Given the description of an element on the screen output the (x, y) to click on. 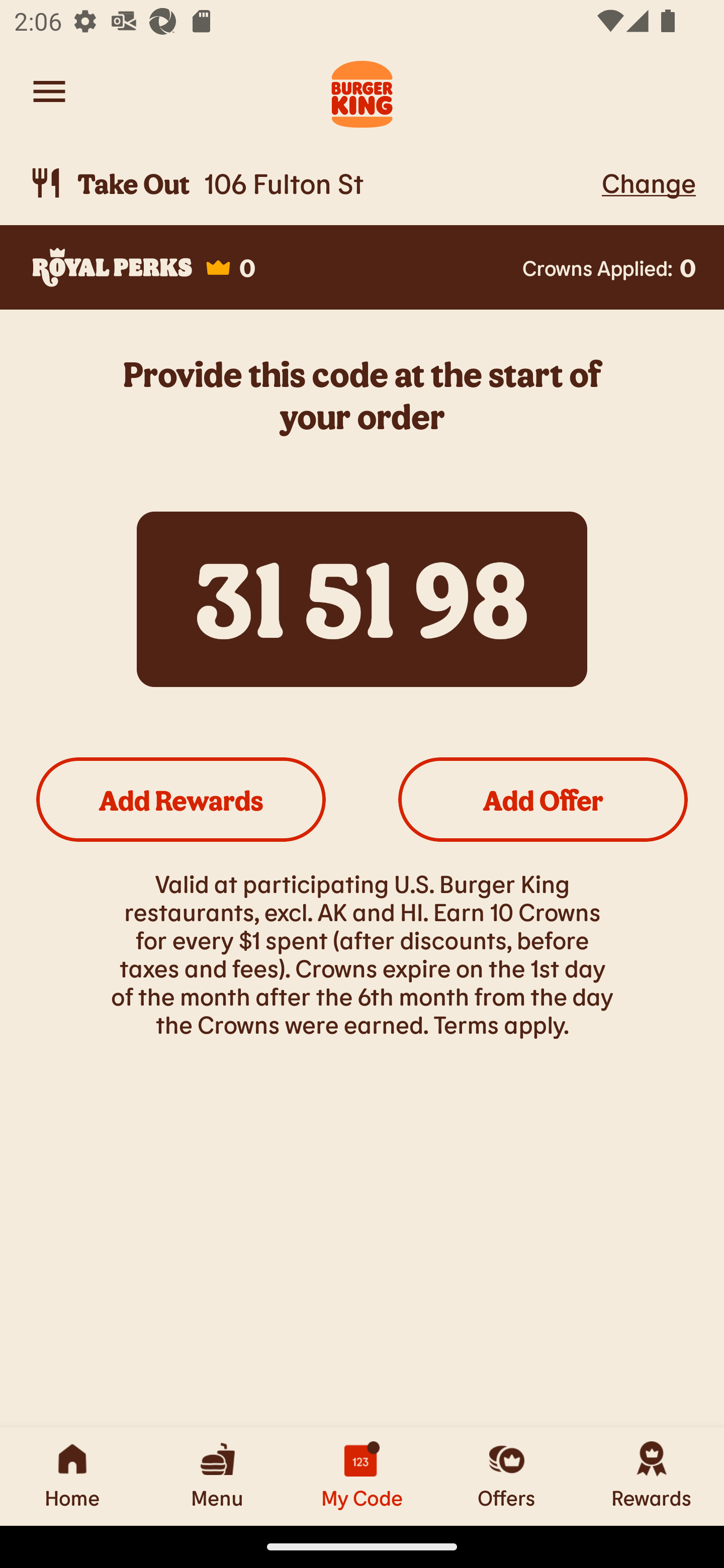
Burger King Logo. Navigate to Home (362, 91)
Navigate to account menu  (49, 91)
Take Out, 106 Fulton St  Take Out 106 Fulton St (311, 183)
Change (648, 182)
Add Rewards (180, 799)
Add Offer (542, 799)
Home (72, 1475)
Menu (216, 1475)
My Code (361, 1475)
Offers (506, 1475)
Rewards (651, 1475)
